Given the description of an element on the screen output the (x, y) to click on. 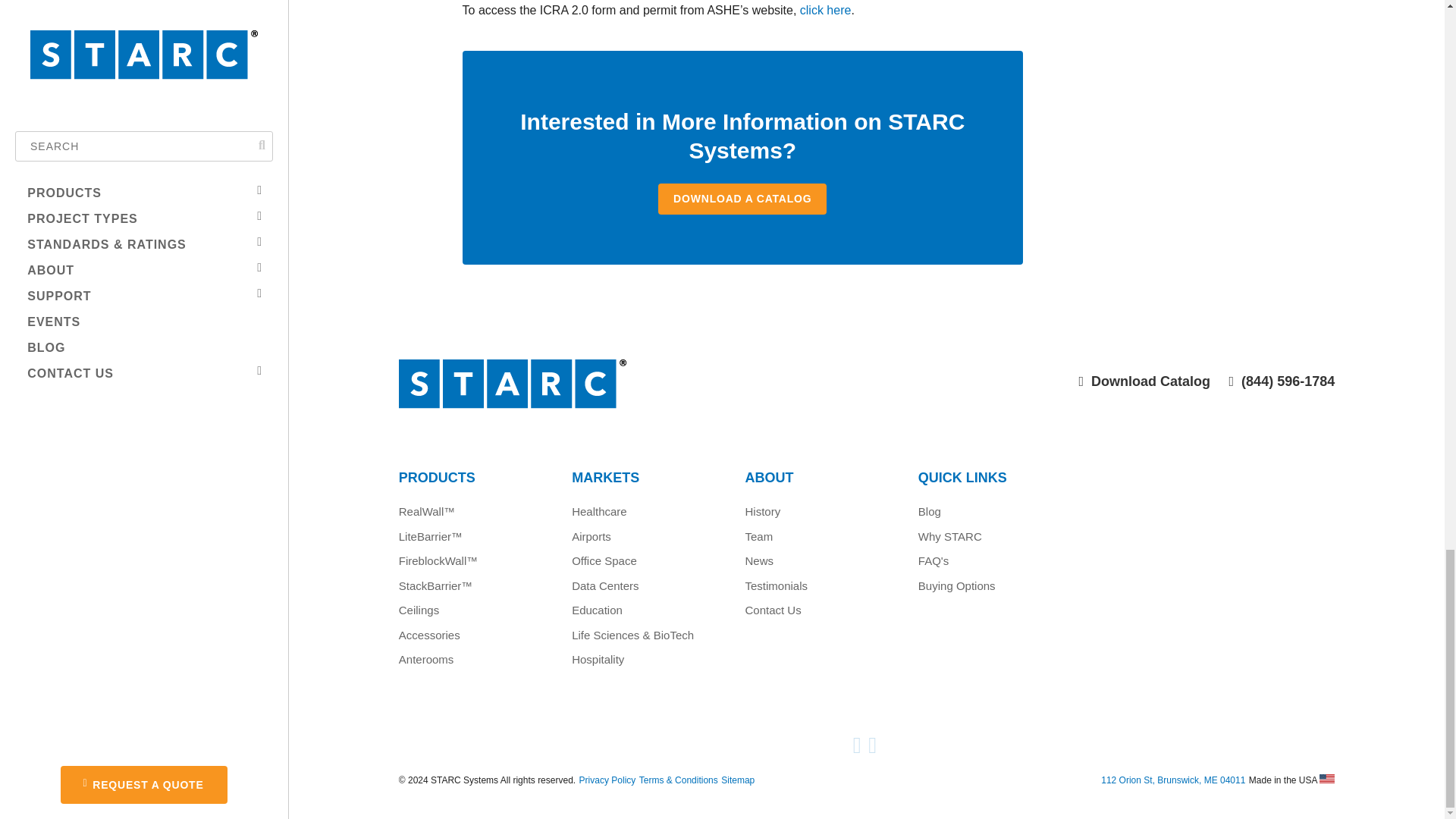
STARC Systems (623, 398)
Call STARC Systems (1281, 381)
YouTube (858, 749)
Sitemap (737, 779)
LinkedIn (873, 749)
112 Orion St, Brunswick, ME 04011 (1172, 779)
Privacy Policy (607, 779)
